Given the description of an element on the screen output the (x, y) to click on. 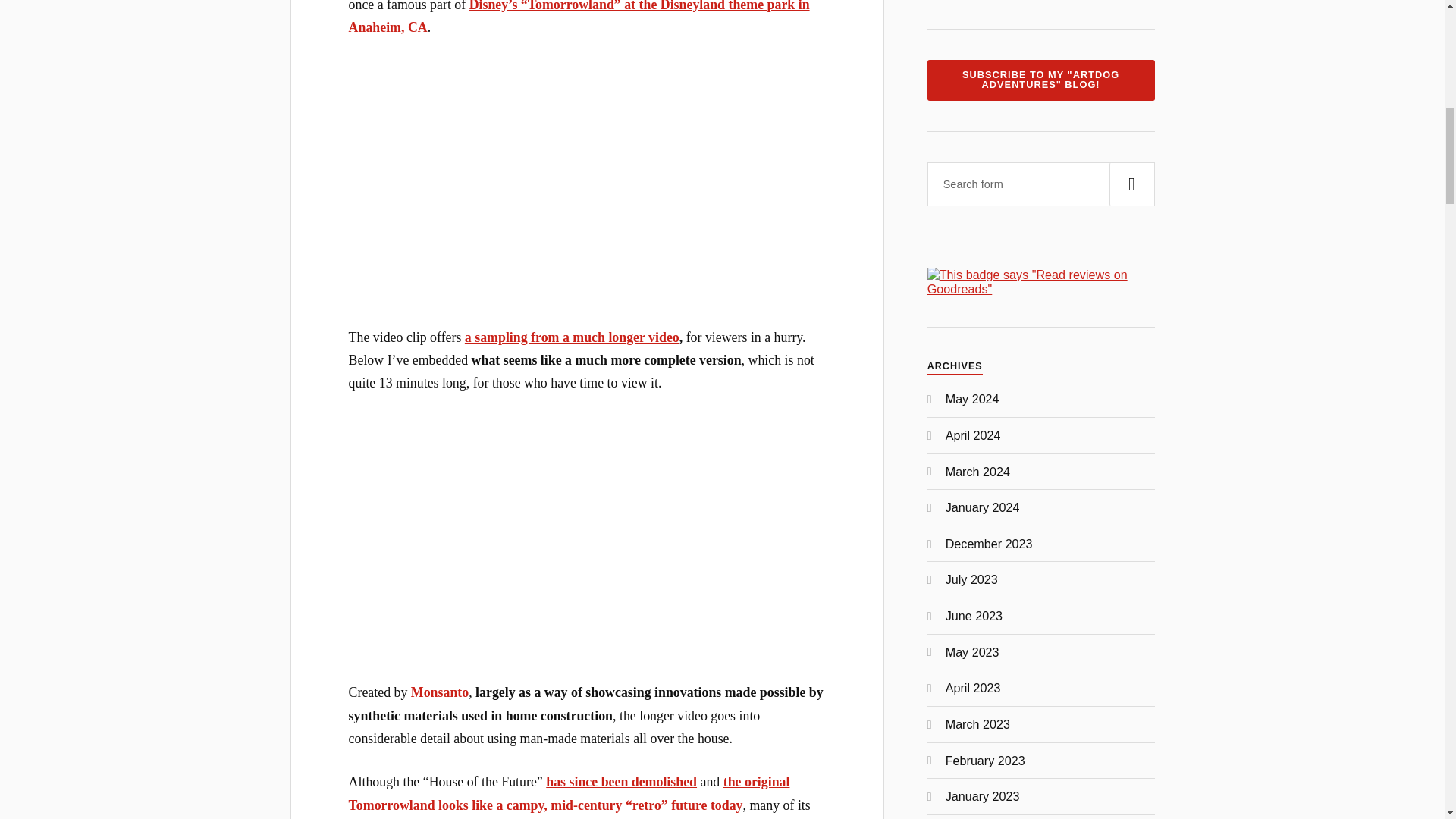
a sampling from a much longer video (571, 337)
Monsanto (439, 692)
has since been demolished (621, 781)
